Given the description of an element on the screen output the (x, y) to click on. 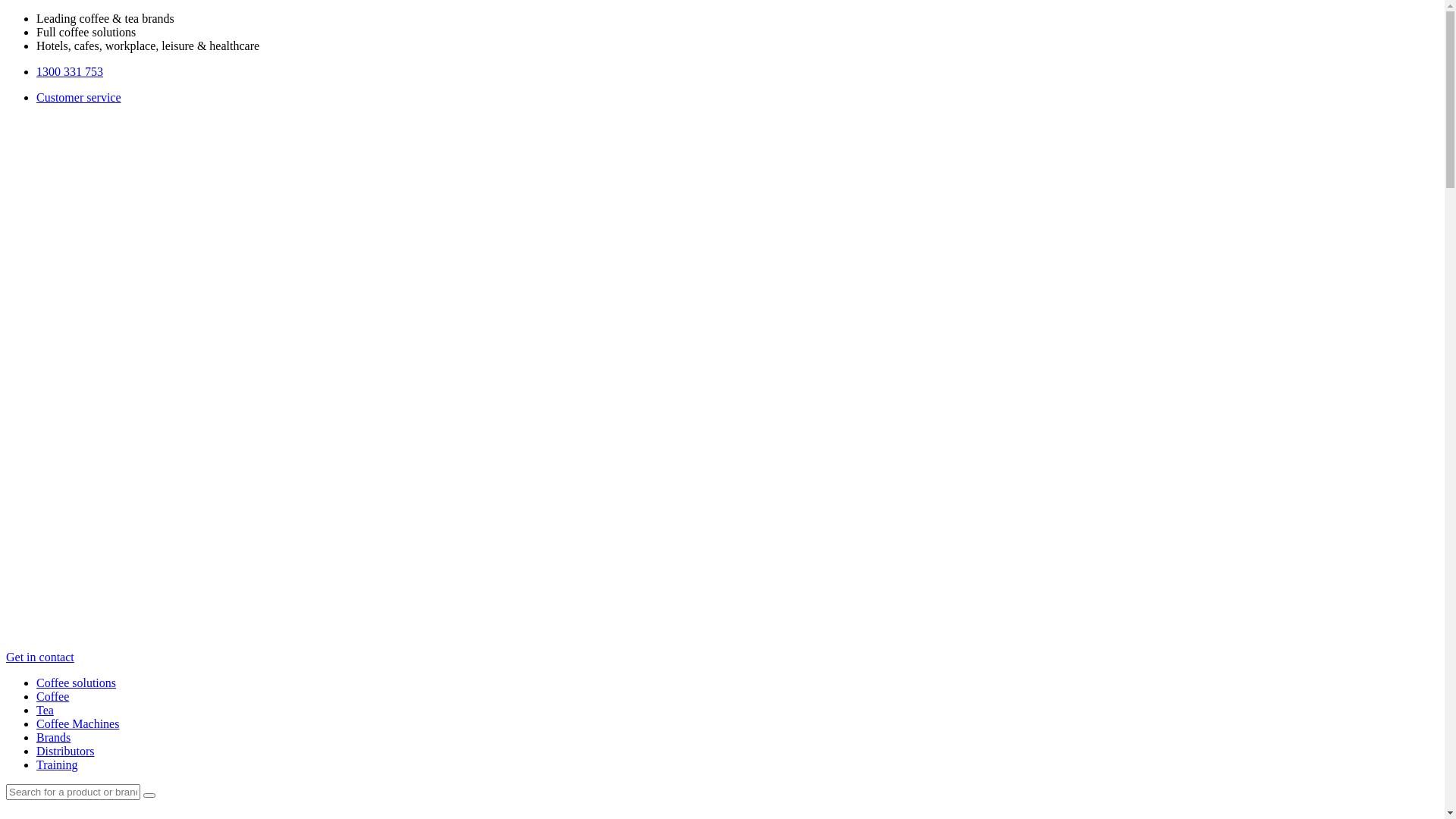
Training Element type: text (57, 764)
Brands Element type: text (53, 737)
Customer service Element type: text (78, 97)
Coffee Element type: text (52, 696)
Tea Element type: text (44, 709)
Get in contact Element type: text (40, 656)
Distributors Element type: text (65, 750)
1300 331 753 Element type: text (69, 71)
Coffee solutions Element type: text (76, 682)
Coffee Machines Element type: text (77, 723)
